Given the description of an element on the screen output the (x, y) to click on. 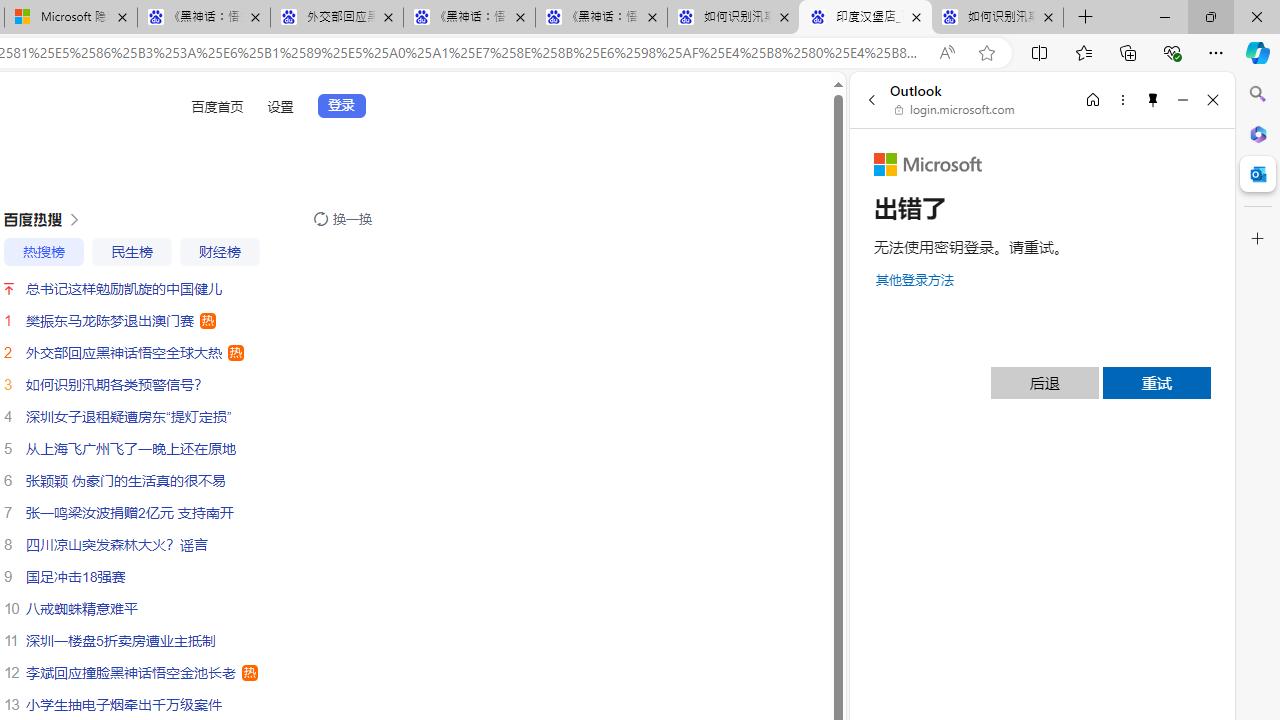
login.microsoft.com (955, 110)
